Given the description of an element on the screen output the (x, y) to click on. 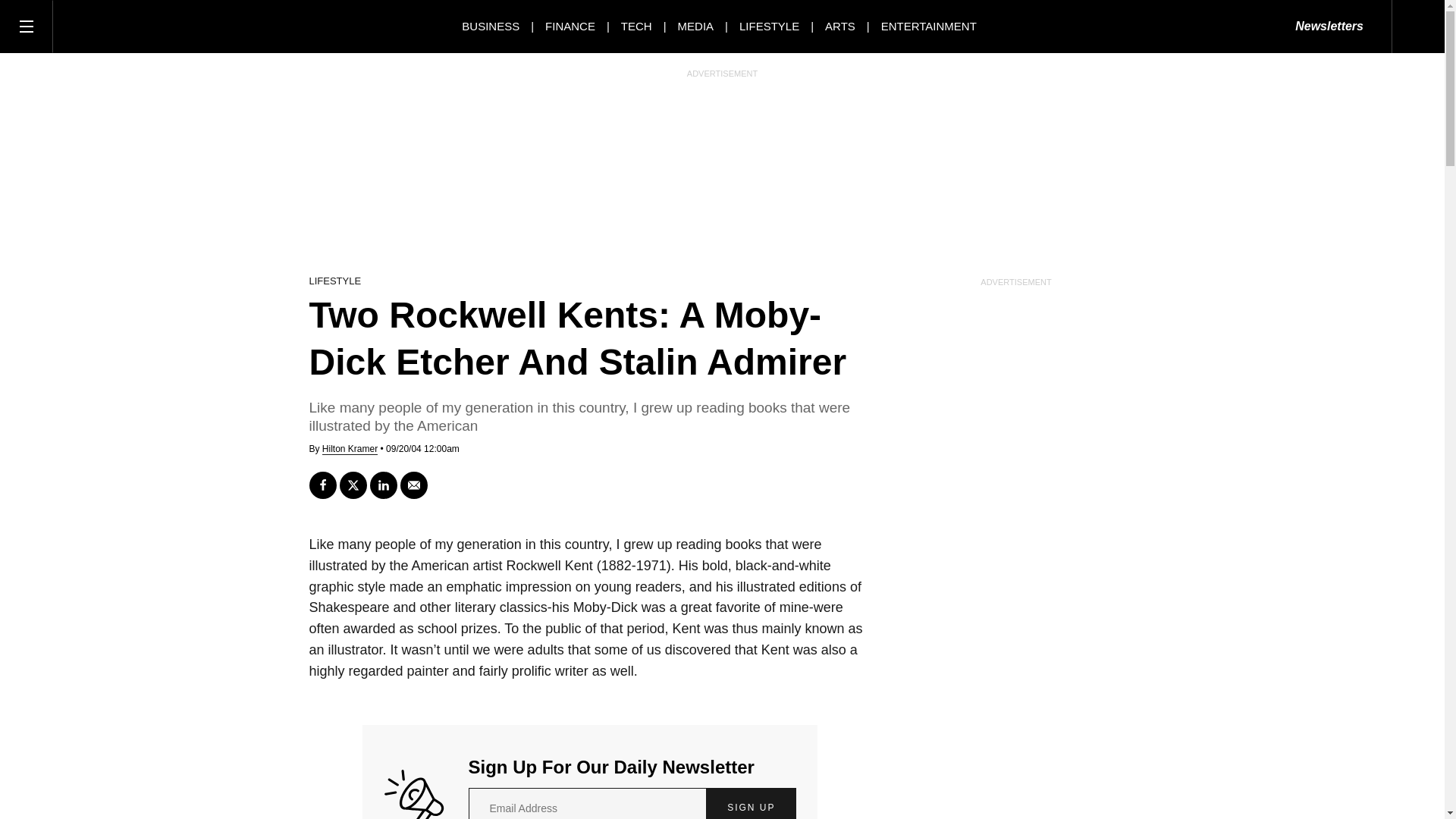
Observer (121, 26)
MEDIA (696, 25)
BUSINESS (490, 25)
Send email (414, 484)
ARTS (840, 25)
Tweet (352, 484)
FINANCE (569, 25)
Newsletters (1329, 26)
TECH (636, 25)
View All Posts by Hilton Kramer (349, 449)
